Given the description of an element on the screen output the (x, y) to click on. 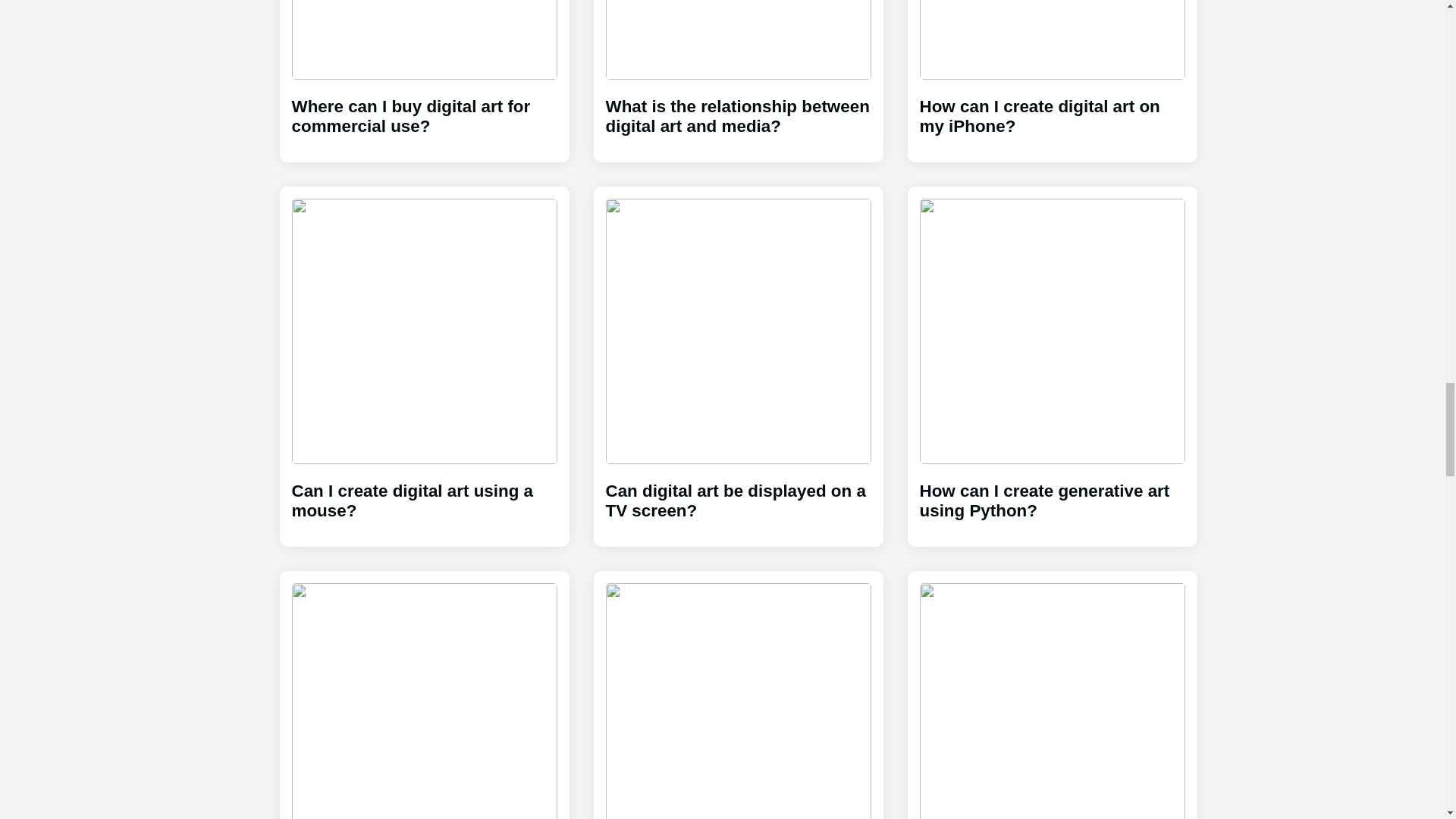
What is the relationship between digital art and media? (737, 74)
How can I create digital art on my iPhone? (1051, 74)
Where can I buy digital art for commercial use? (423, 74)
